Given the description of an element on the screen output the (x, y) to click on. 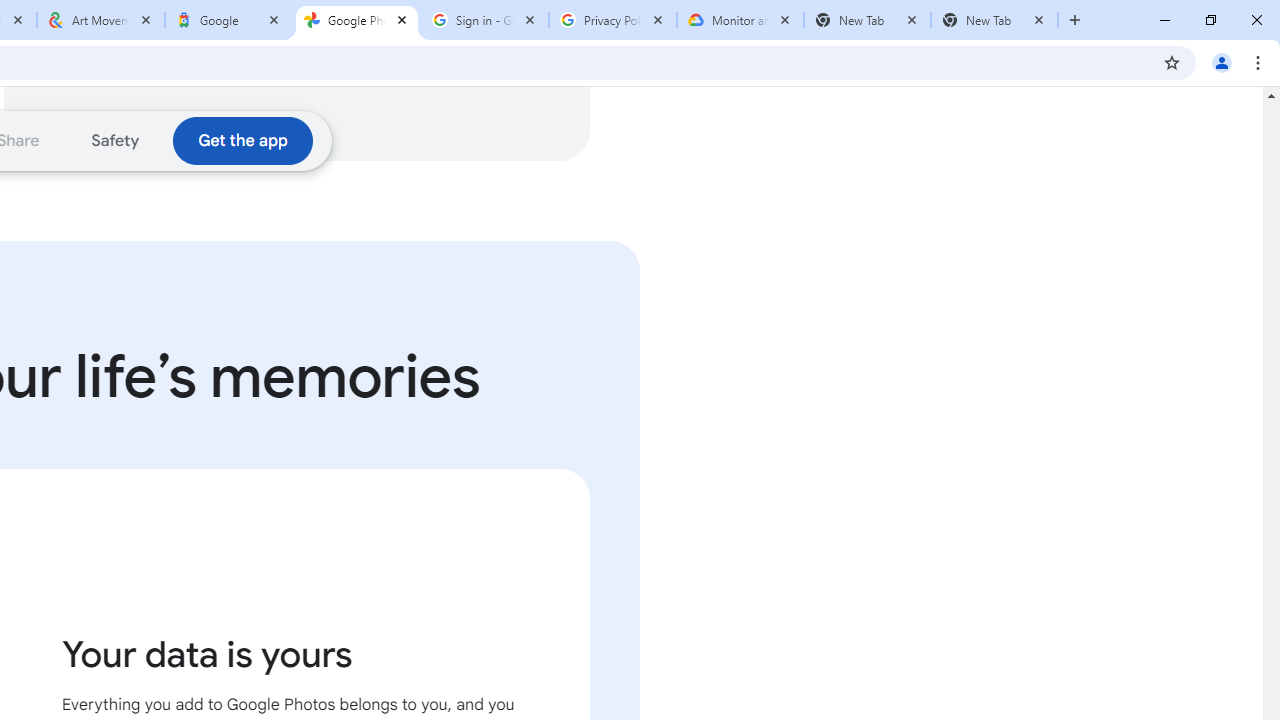
New Tab (994, 20)
Google (229, 20)
New Tab (866, 20)
Download the Google Photos app (242, 140)
Go to section: Safety (115, 140)
